Given the description of an element on the screen output the (x, y) to click on. 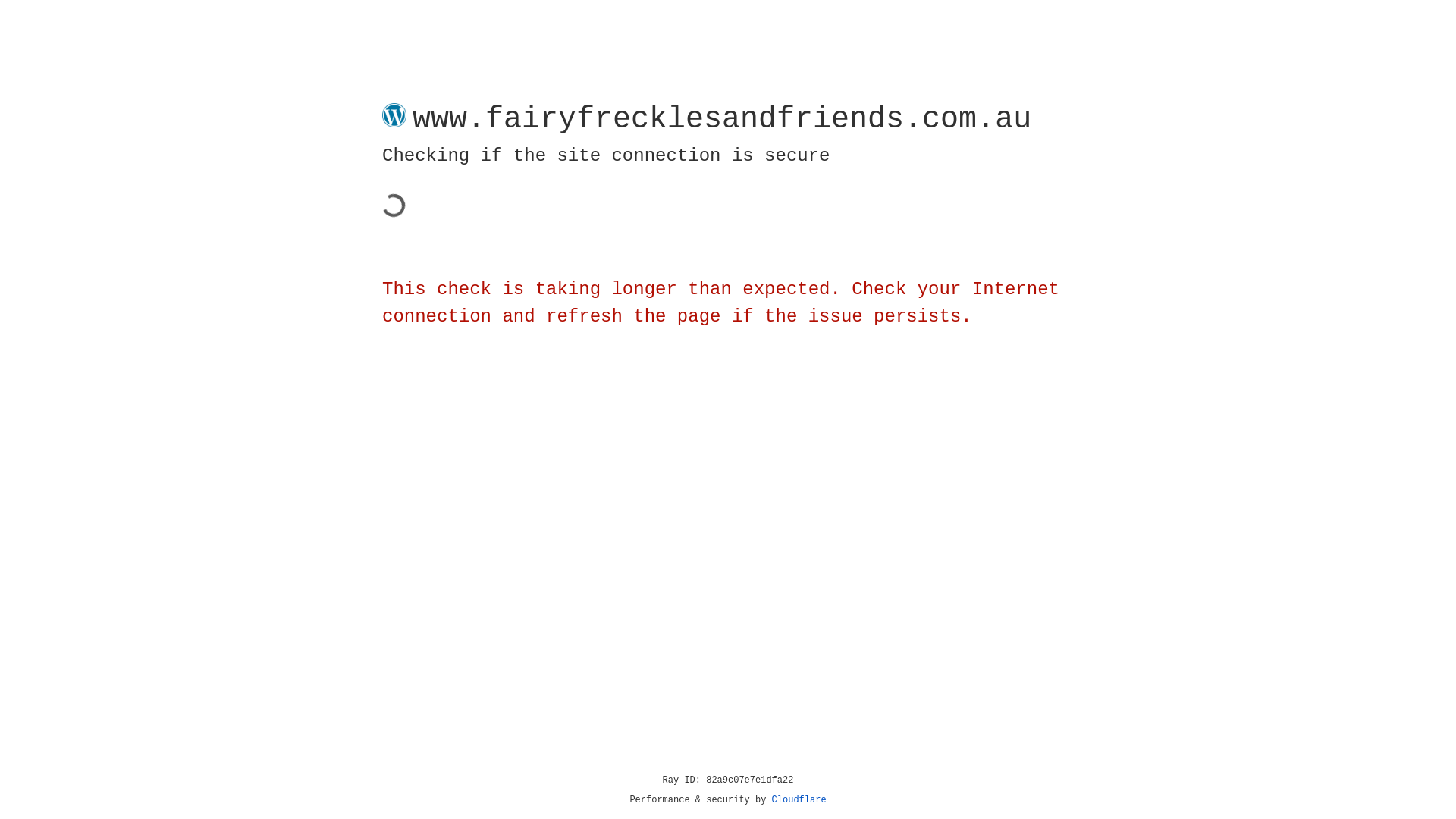
Cloudflare Element type: text (798, 799)
